Given the description of an element on the screen output the (x, y) to click on. 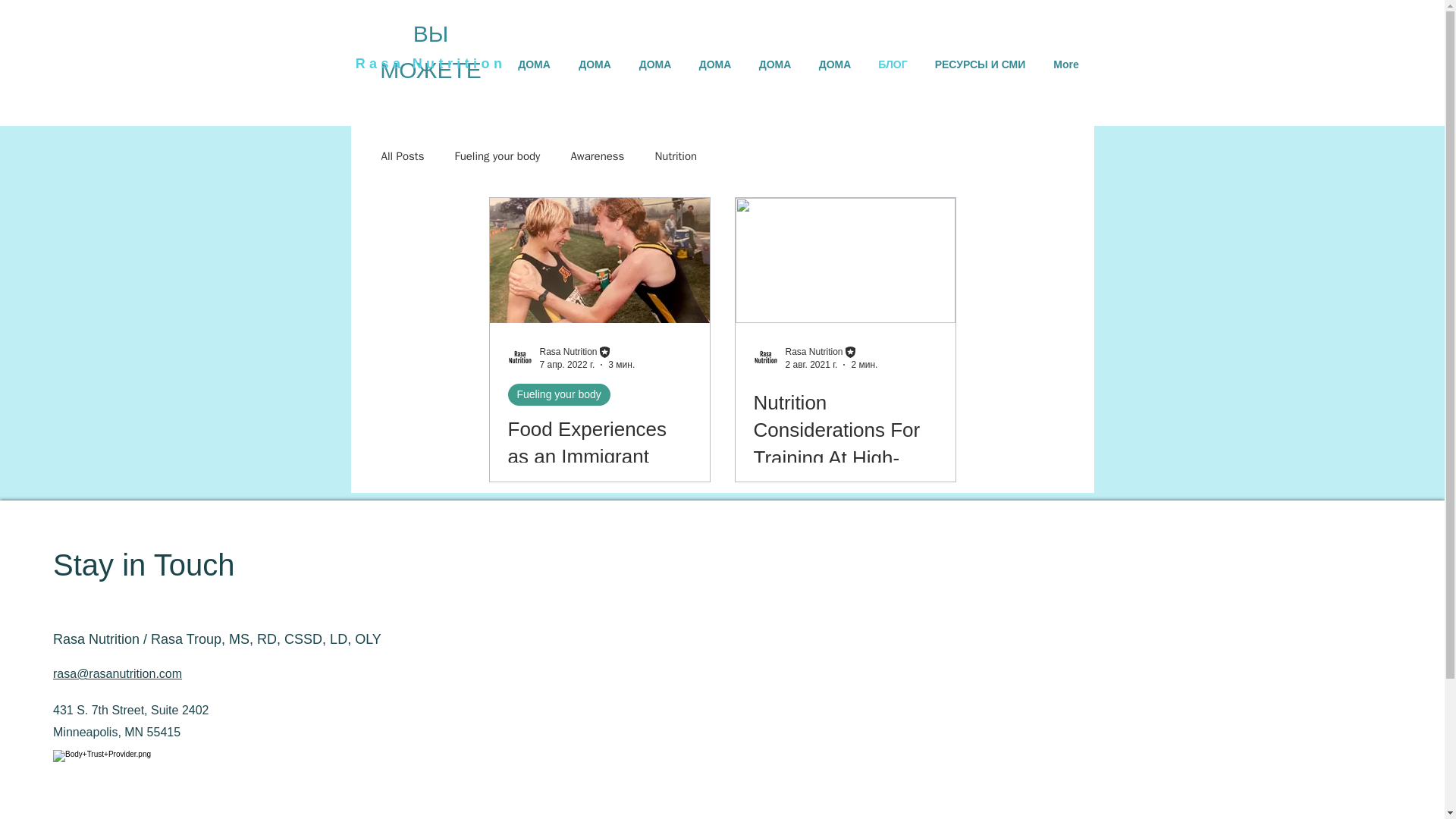
All Posts (401, 155)
Nutrition (675, 155)
Rasa Nutrition (568, 351)
Food Experiences as an Immigrant Athlete (599, 456)
Nutrition Considerations For Training At High-Altitude (845, 444)
Rasa Nutrition (814, 351)
Awareness (597, 155)
Fueling your body (497, 155)
Fueling your body (559, 394)
